Given the description of an element on the screen output the (x, y) to click on. 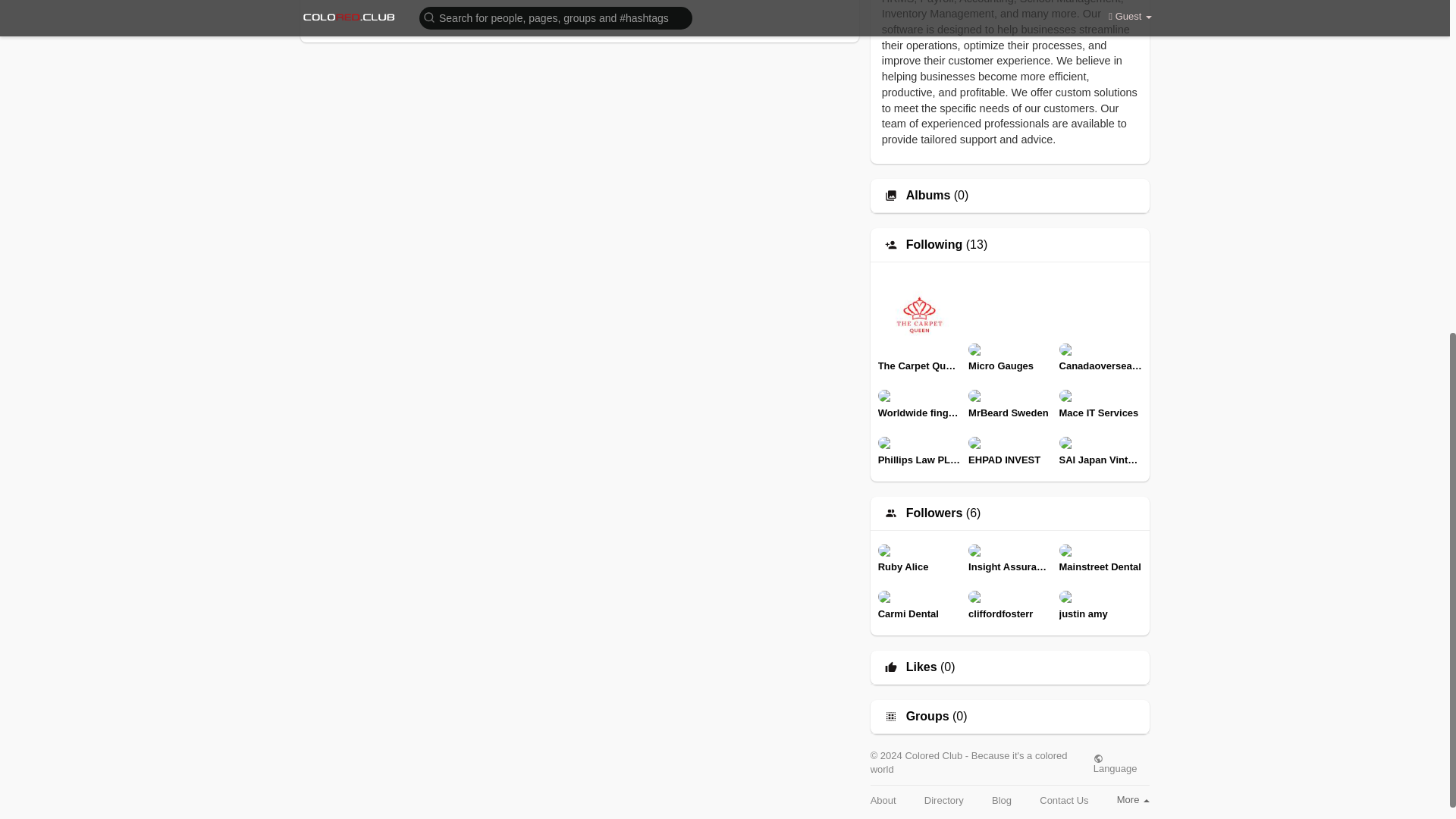
Albums (927, 195)
Following (933, 244)
MrBeard Sweden (1009, 403)
Groups (927, 716)
Canadaoverseas Fingerprinting (1100, 356)
Blog (1001, 800)
Insight Assurance (1009, 558)
Directory (943, 800)
Micro Gauges (1009, 356)
Mainstreet Dental (1100, 558)
Mace IT Services (1100, 403)
EHPAD INVEST (1009, 450)
Language (1121, 762)
Carmi Dental (918, 603)
Phillips Law PLLC (918, 450)
